Given the description of an element on the screen output the (x, y) to click on. 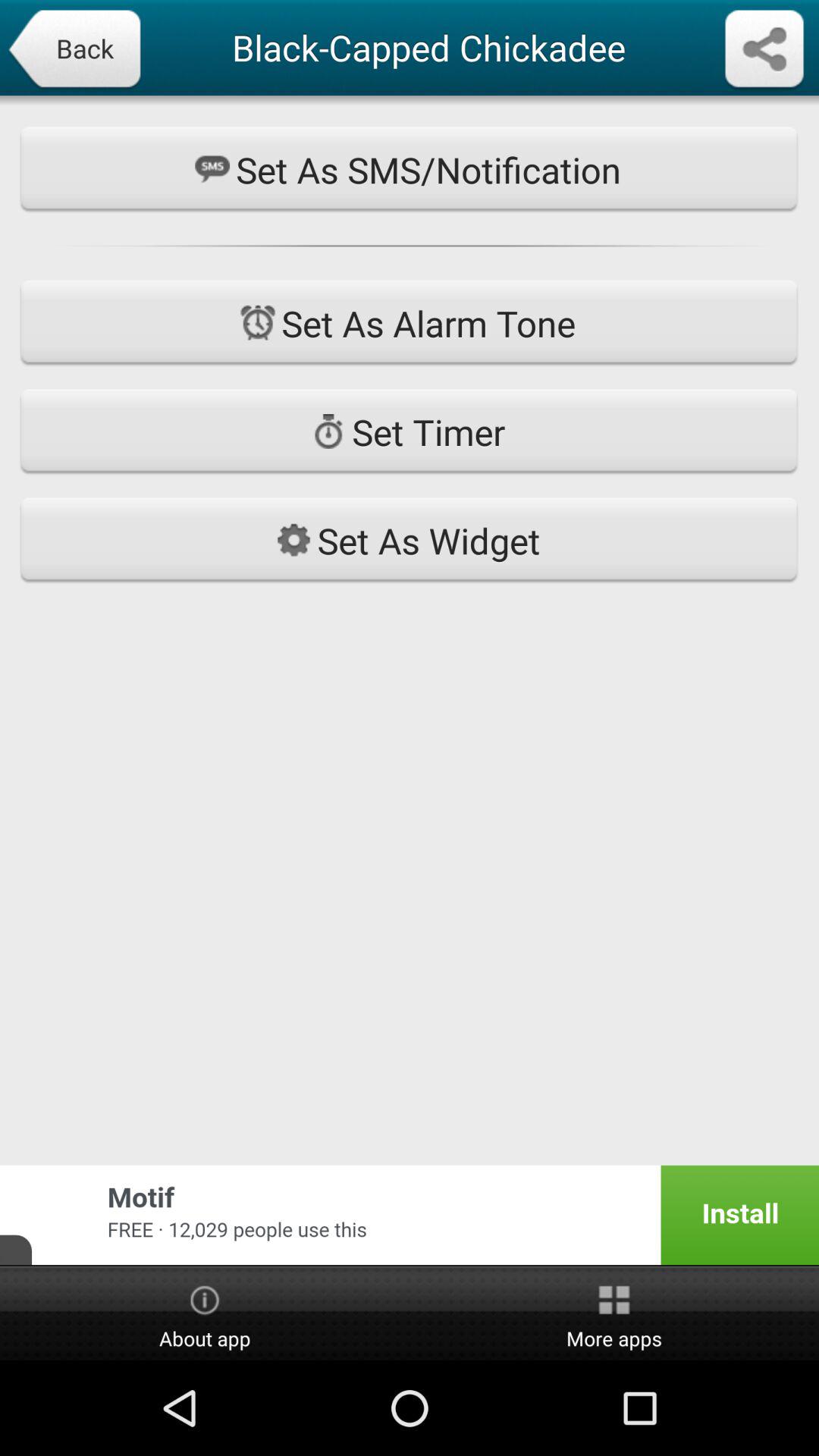
click about app button (204, 1314)
